Given the description of an element on the screen output the (x, y) to click on. 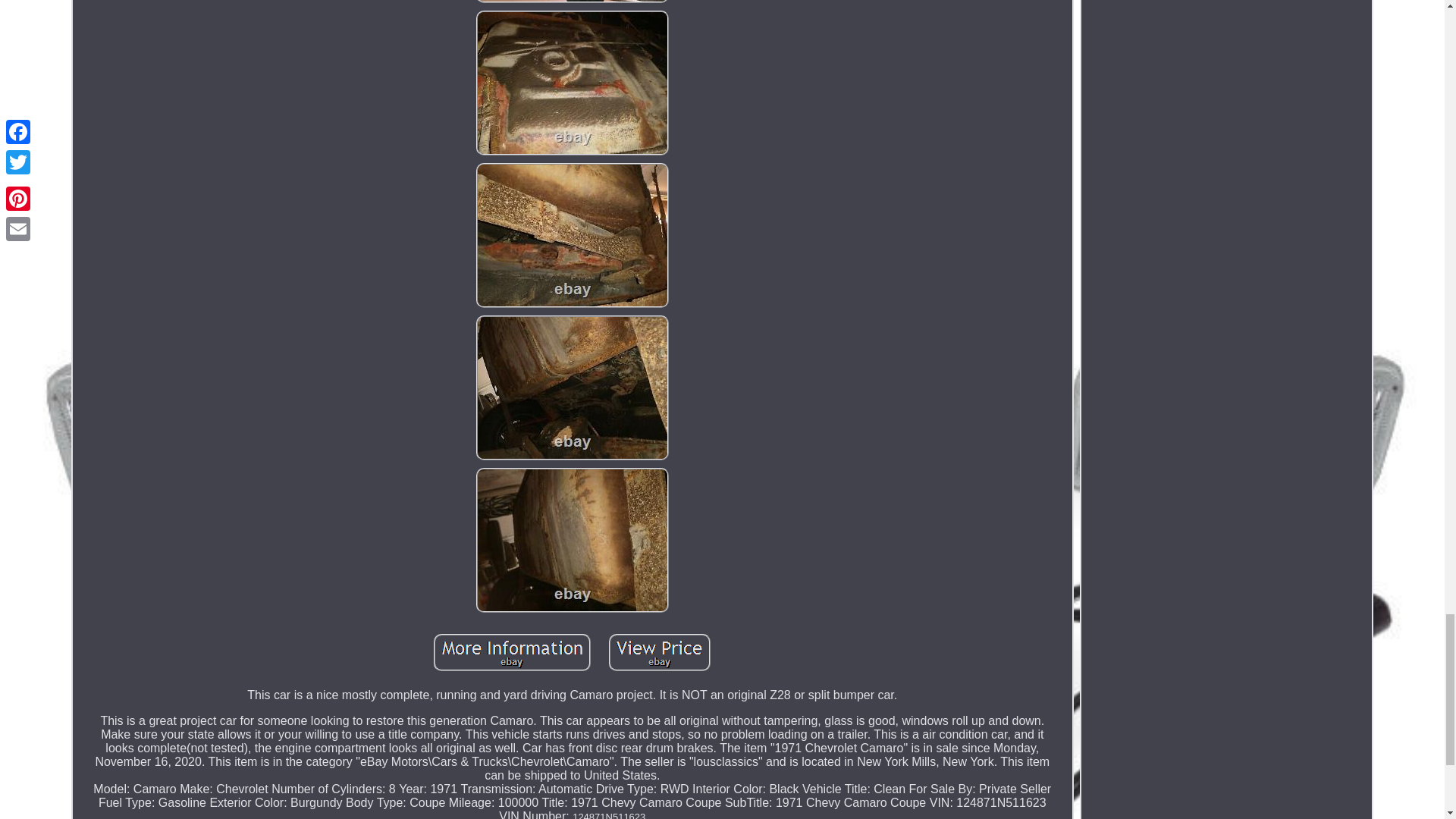
1971 Chevrolet Camaro (572, 1)
